Given the description of an element on the screen output the (x, y) to click on. 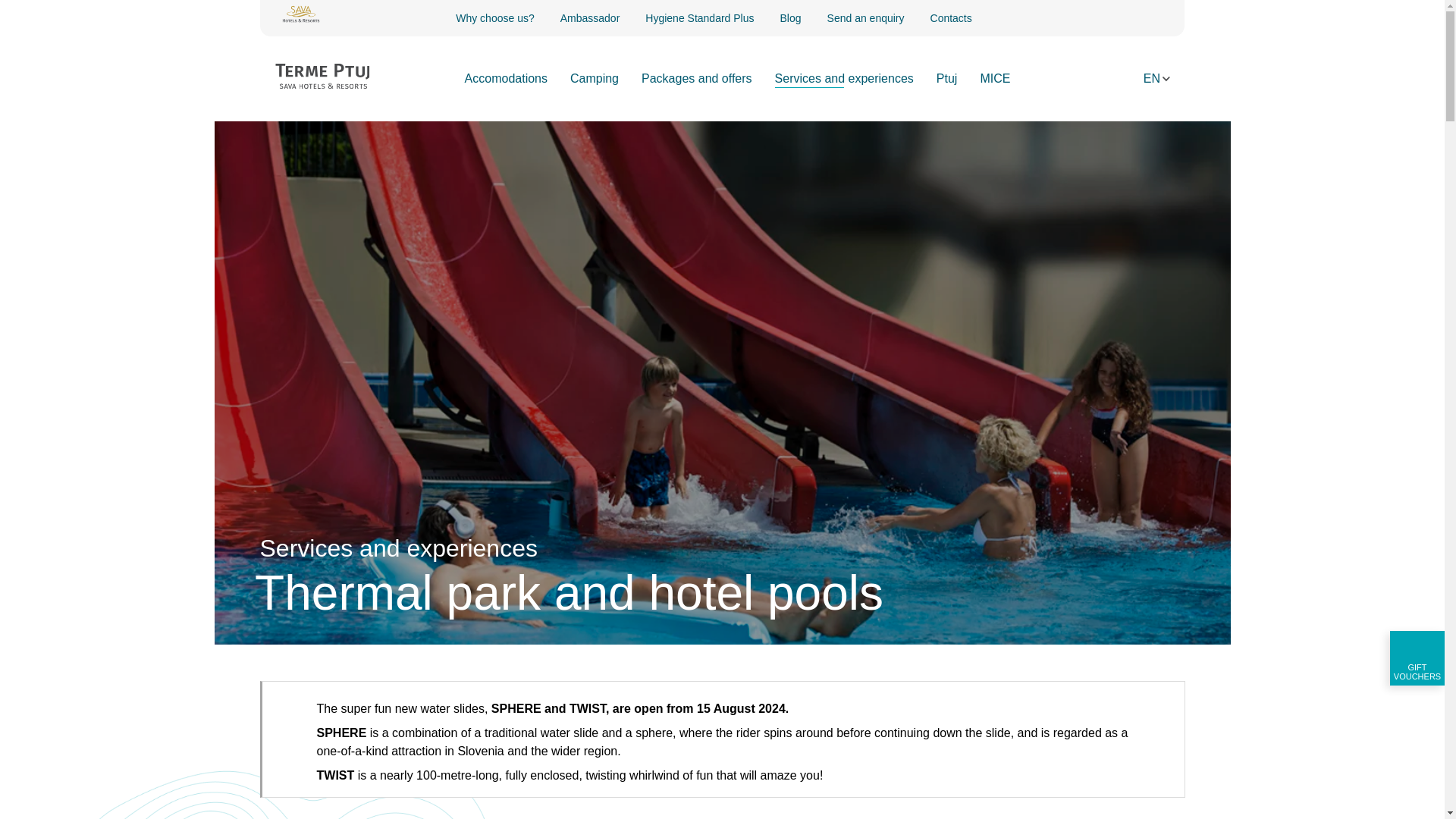
MICE (994, 78)
Open search modal window (1118, 79)
Contacts (951, 18)
Packages and offers (697, 78)
Camping (594, 78)
Hygiene Standard Plus (699, 18)
Services and experiences (844, 78)
EN (1157, 78)
Accomodations (505, 78)
Ambassador (590, 18)
